Given the description of an element on the screen output the (x, y) to click on. 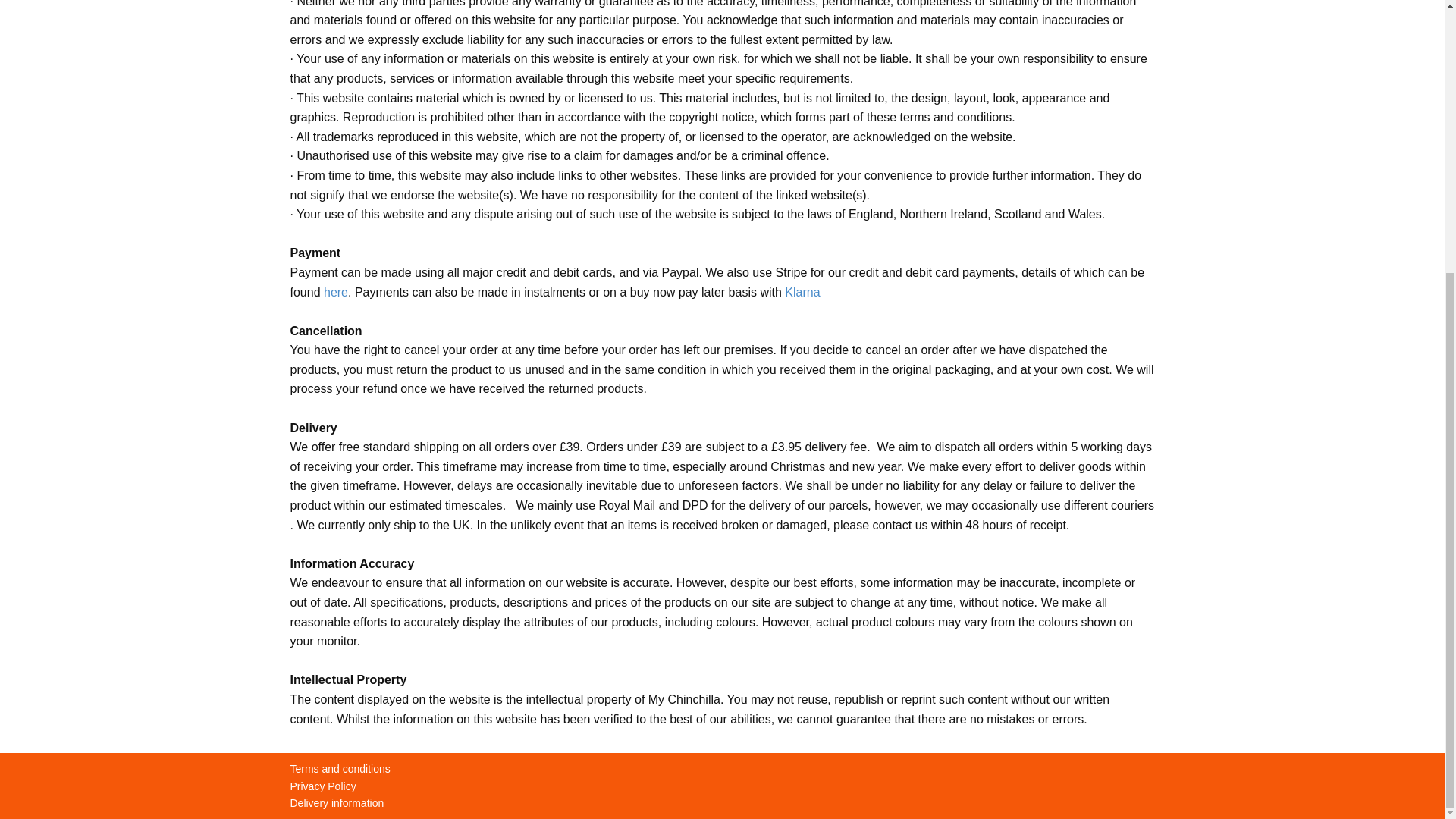
Delivery information (336, 802)
Klarna (801, 292)
Terms and conditions (339, 768)
Privacy Policy (322, 786)
here (335, 292)
